Given the description of an element on the screen output the (x, y) to click on. 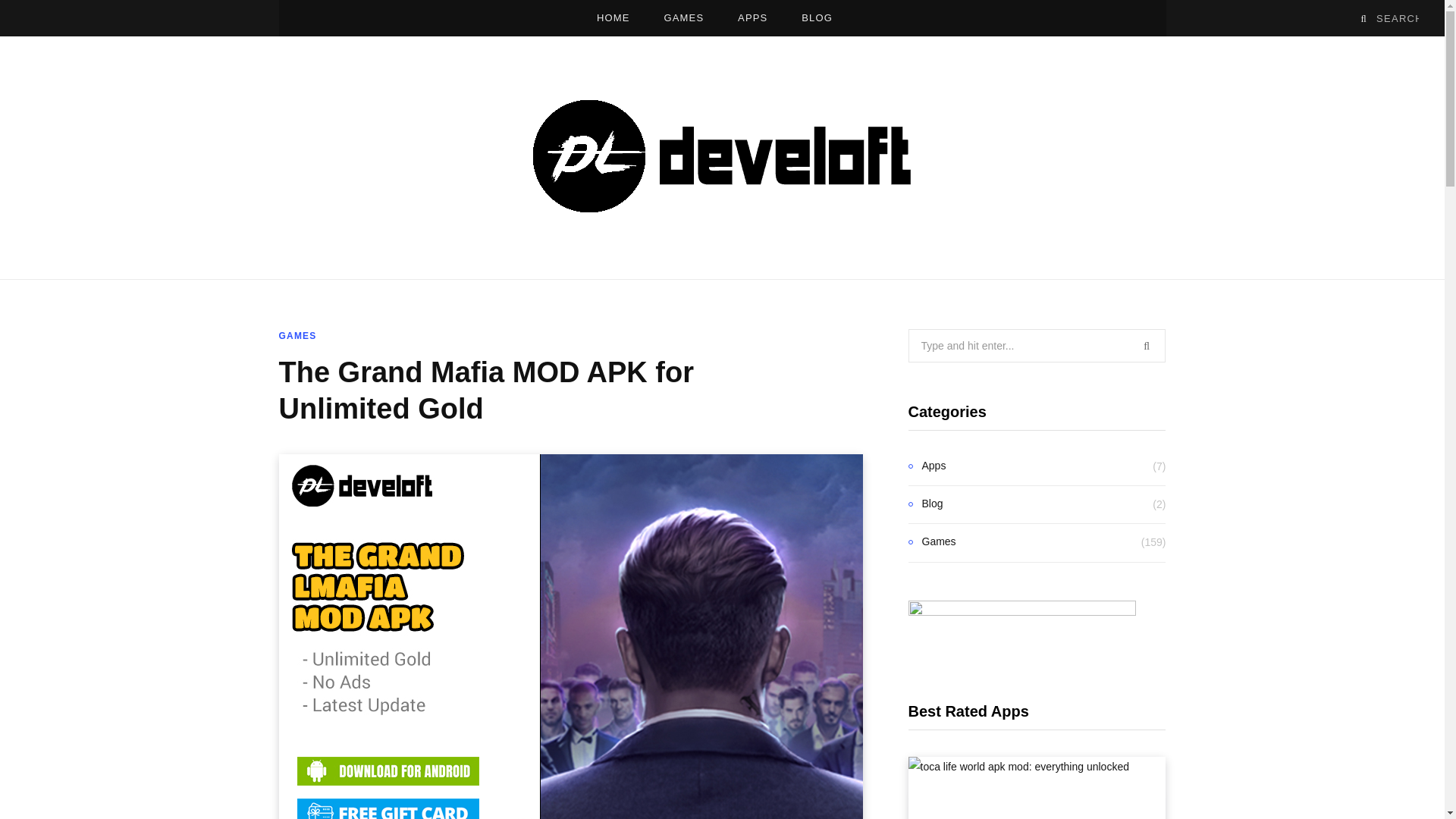
APPS (752, 18)
Apps (927, 466)
GAMES (298, 335)
Blog (925, 504)
HOME (612, 18)
Develoft (722, 157)
BLOG (816, 18)
GAMES (683, 18)
